Given the description of an element on the screen output the (x, y) to click on. 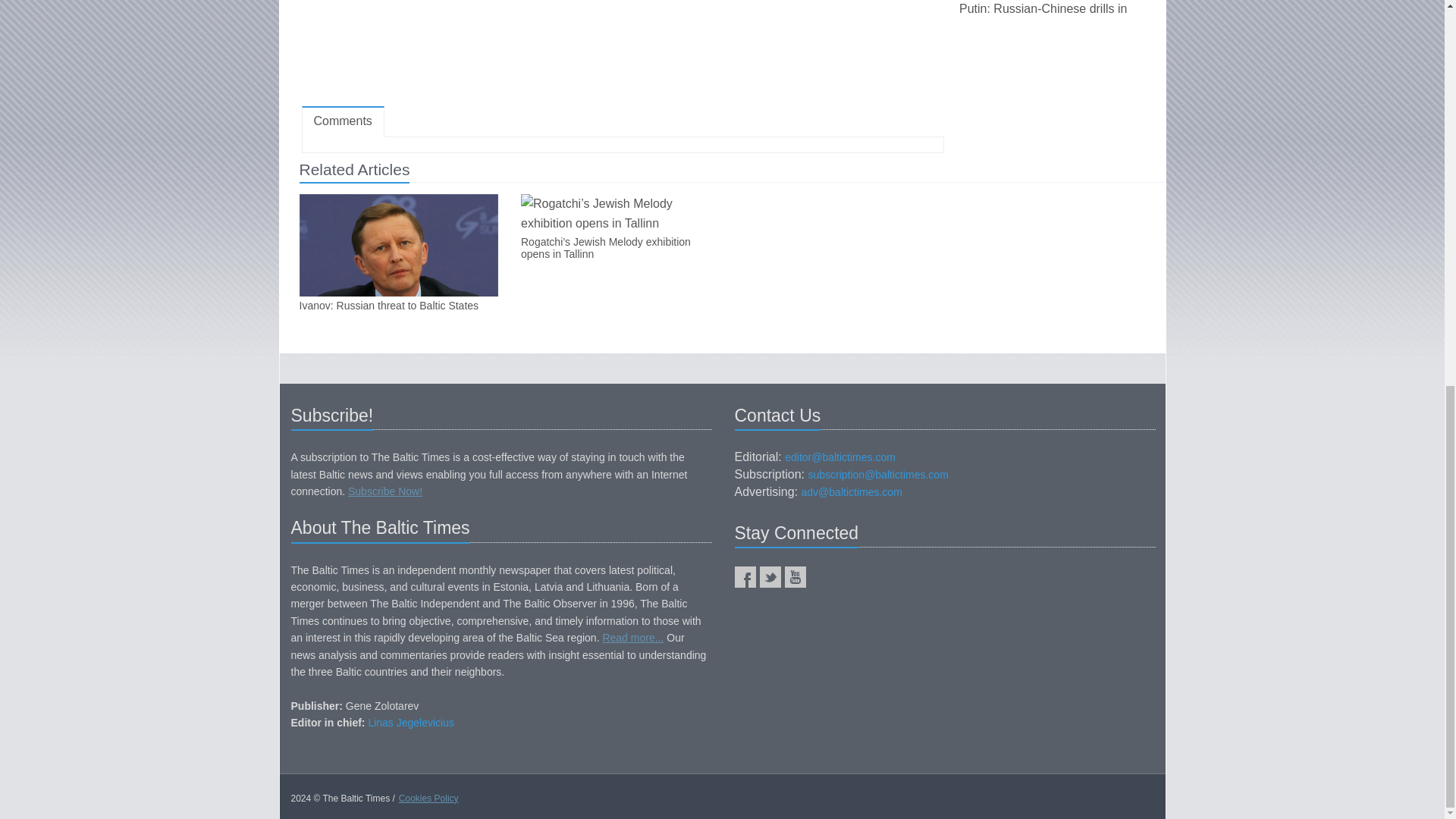
Comments (342, 121)
Ivanov: Russian threat to Baltic States (397, 306)
